Given the description of an element on the screen output the (x, y) to click on. 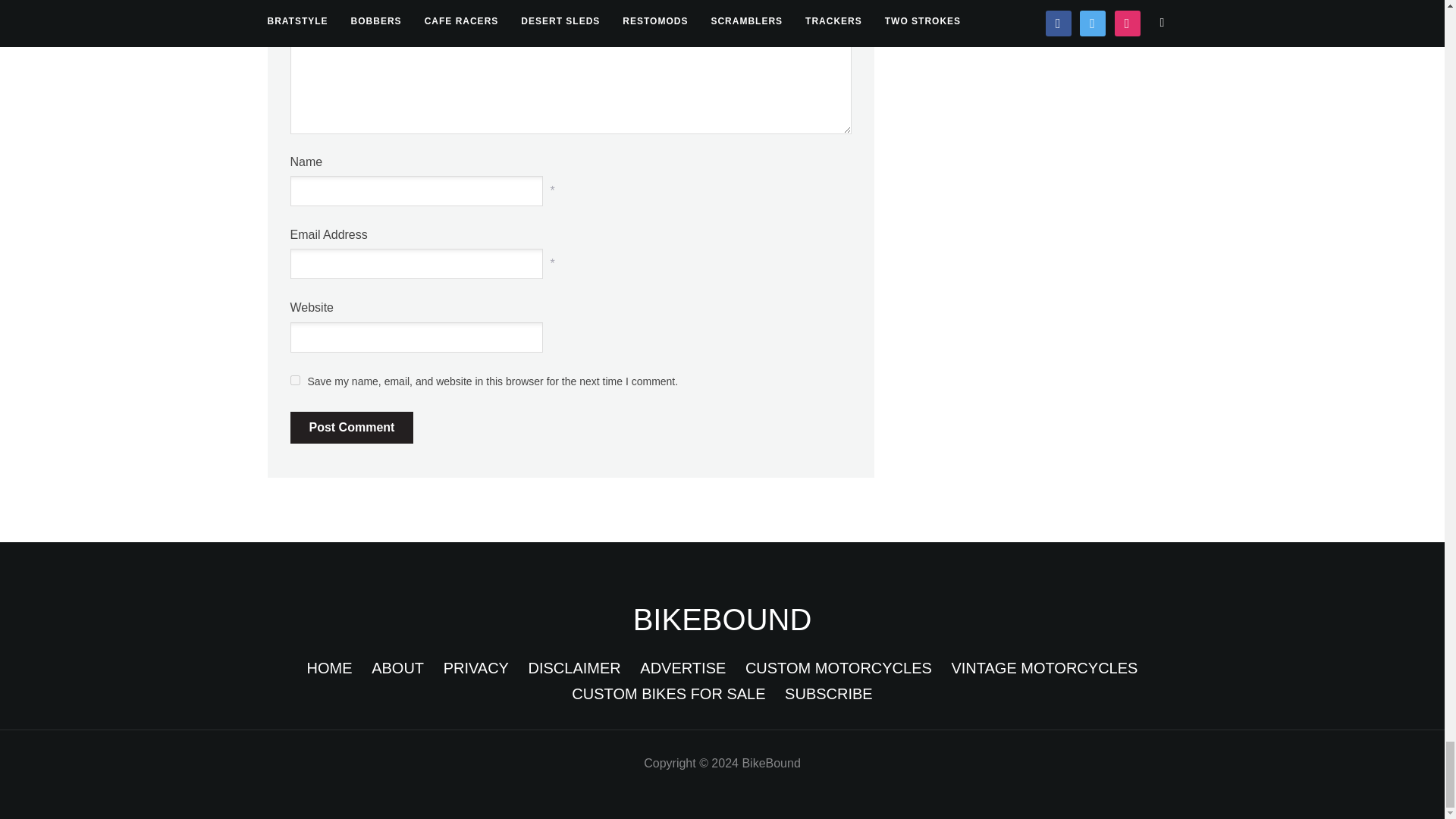
yes (294, 379)
Cafe Racers, Scramblers, Trackers, and Bratstyle (722, 619)
Post Comment (351, 427)
